Given the description of an element on the screen output the (x, y) to click on. 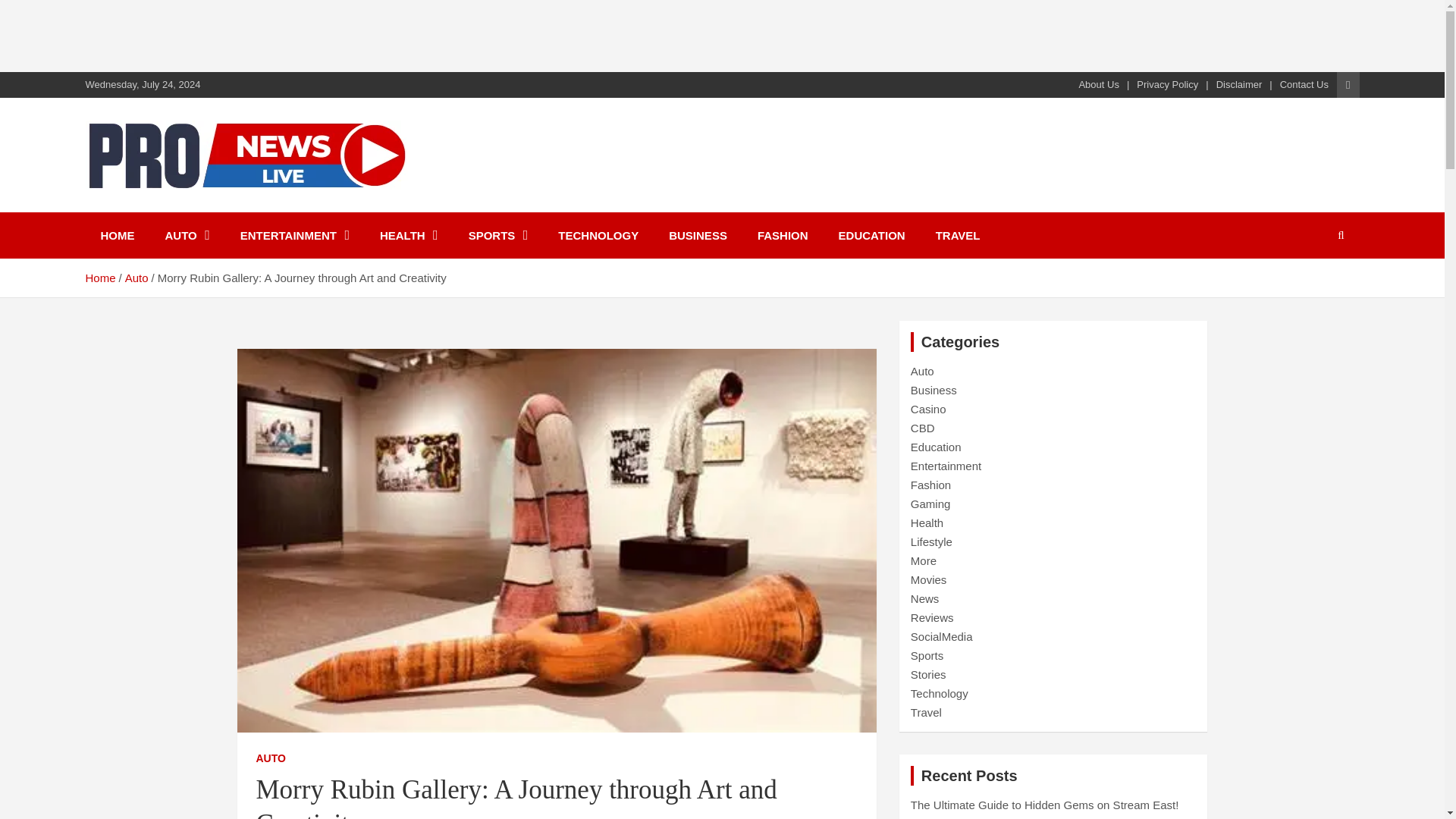
About Us (1098, 84)
AUTO (270, 758)
HOME (116, 235)
Pro News Live (188, 209)
TECHNOLOGY (598, 235)
Contact Us (1303, 84)
Home (99, 277)
TRAVEL (957, 235)
FASHION (783, 235)
Advertisement (275, 33)
BUSINESS (697, 235)
AUTO (187, 235)
Auto (136, 277)
HEALTH (408, 235)
SPORTS (497, 235)
